Given the description of an element on the screen output the (x, y) to click on. 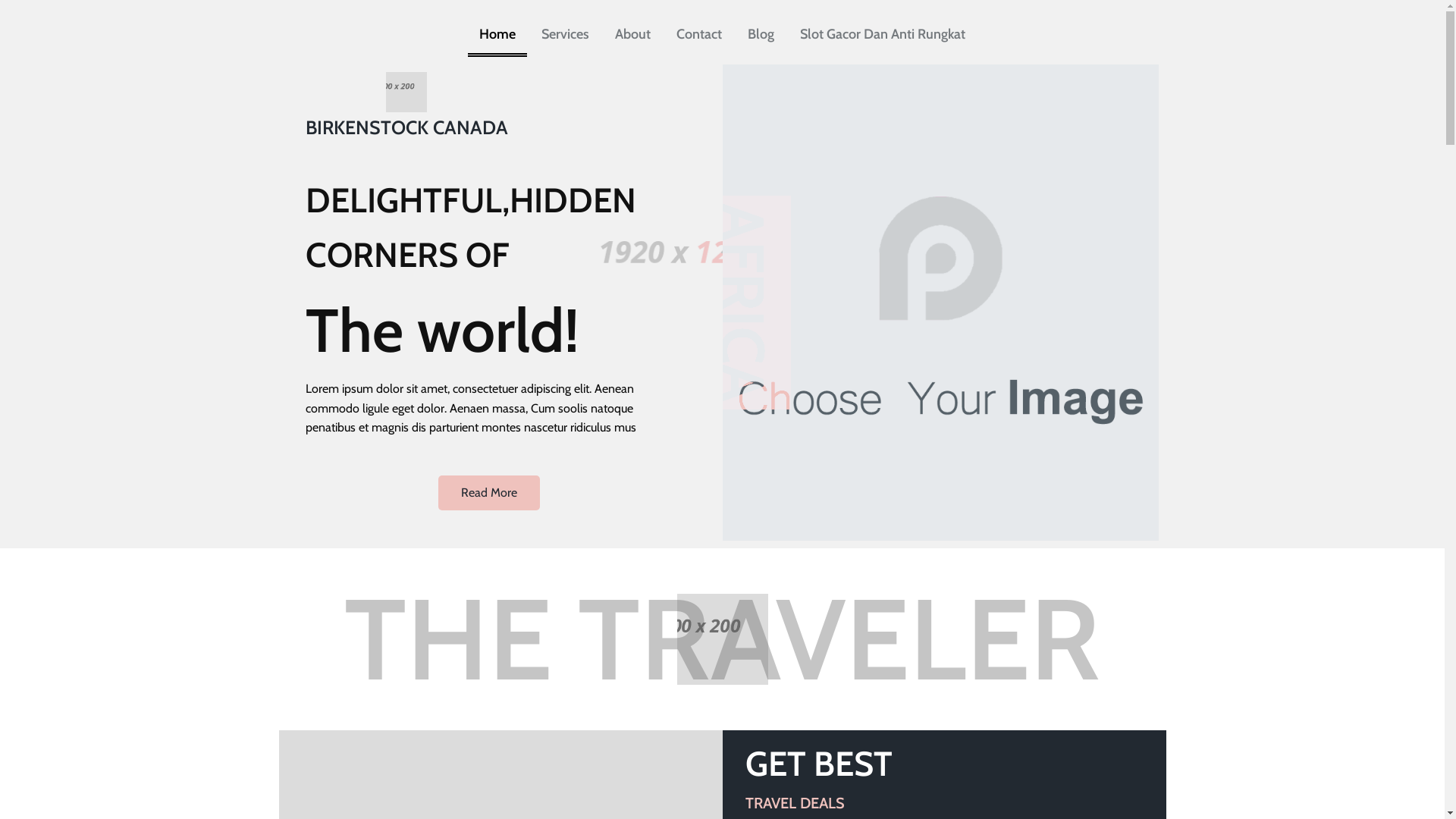
Home Element type: text (497, 34)
BIRKENSTOCK CANADA Element type: text (405, 107)
Read More Element type: text (488, 492)
logo-alt Element type: hover (405, 92)
About Element type: text (632, 34)
Slot Gacor Dan Anti Rungkat Element type: text (882, 34)
Contact Element type: text (699, 34)
Services Element type: text (565, 34)
Blog Element type: text (760, 34)
